Given the description of an element on the screen output the (x, y) to click on. 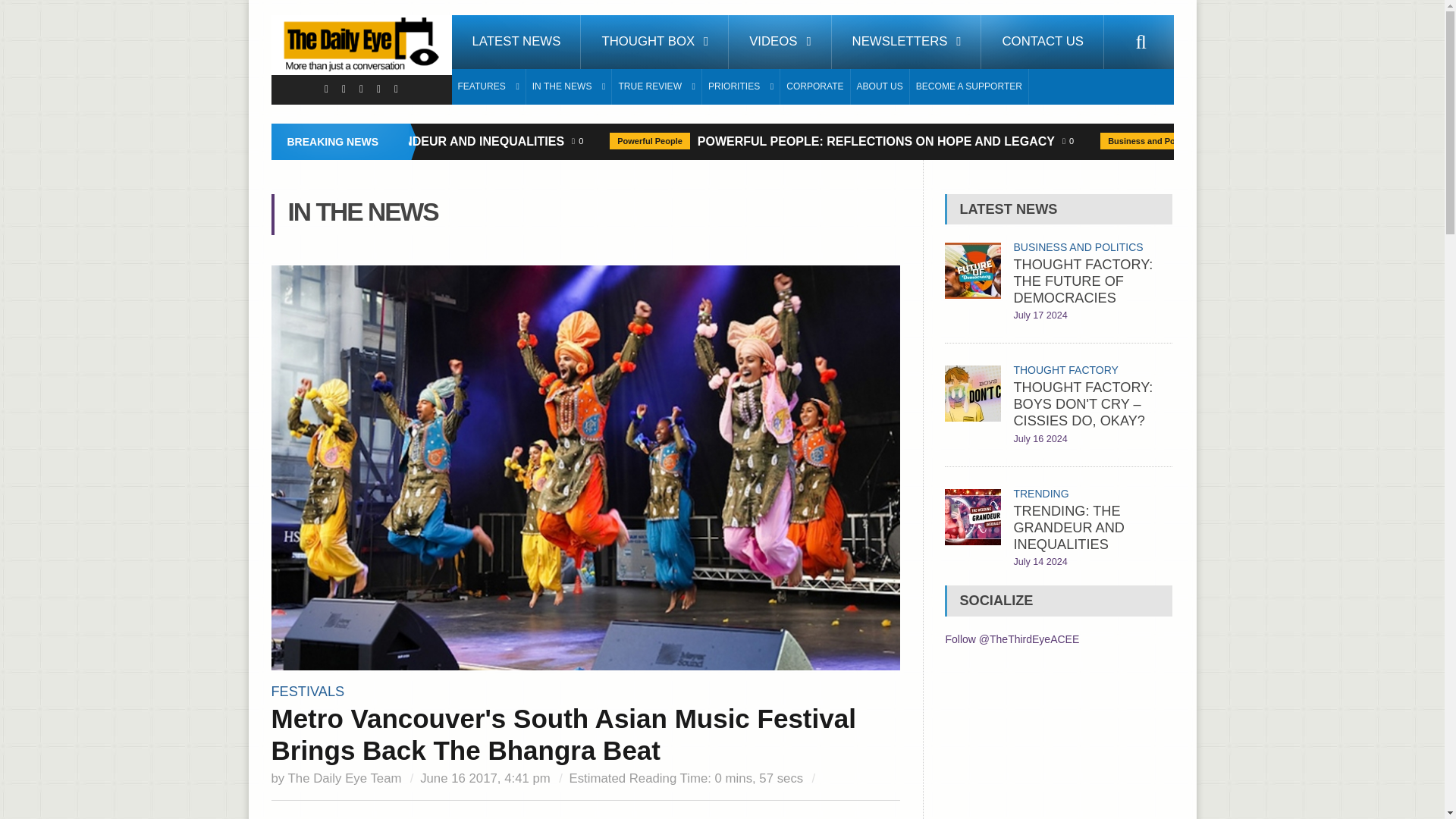
NEWSLETTERS (906, 41)
Advertisement (1058, 744)
THOUGHT BOX (654, 41)
search (1140, 42)
LATEST NEWS (515, 41)
VIDEOS (780, 41)
